Given the description of an element on the screen output the (x, y) to click on. 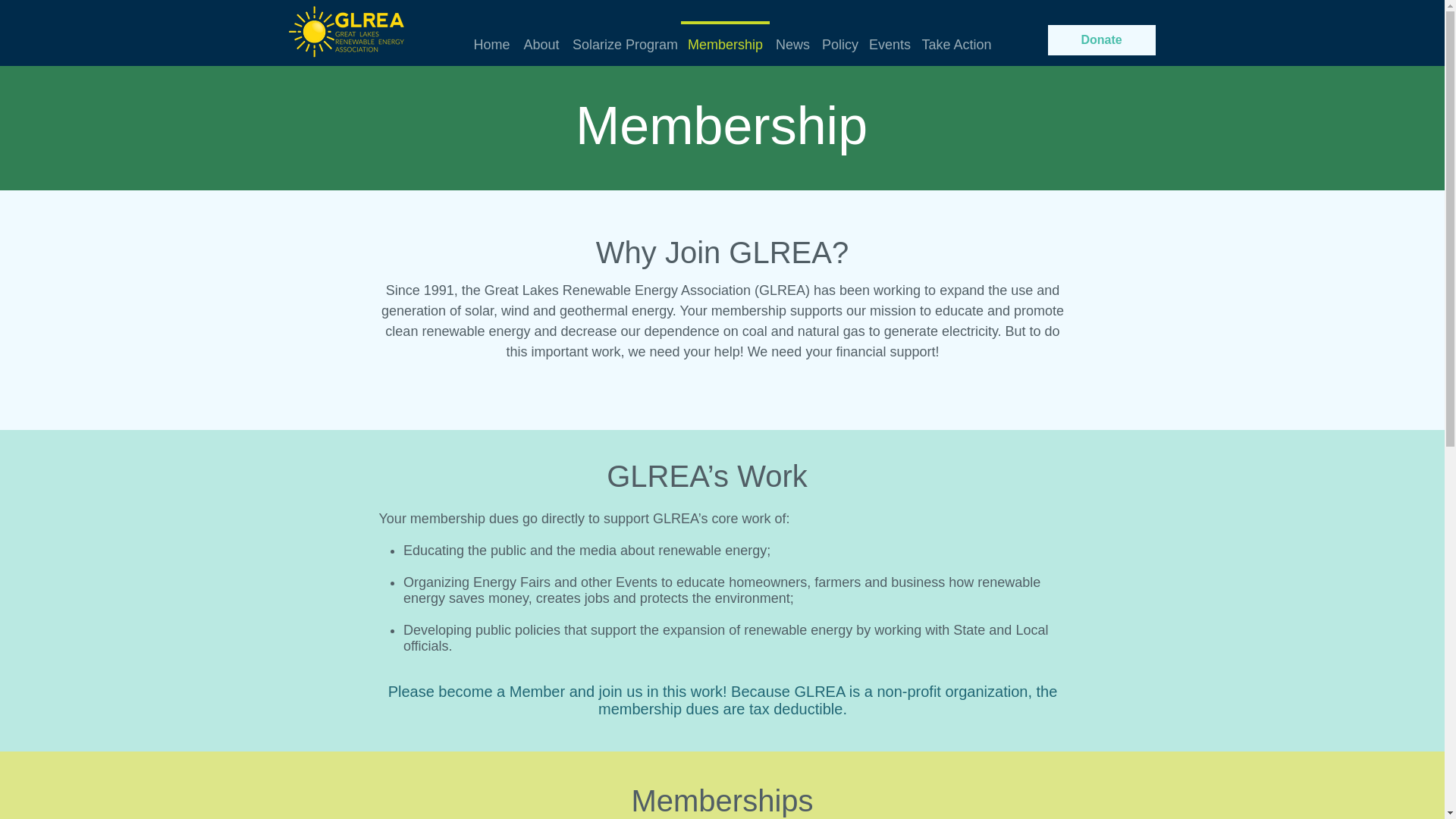
Take Action (956, 38)
Events (889, 38)
Home (491, 38)
News (792, 38)
About (541, 38)
Membership (725, 38)
Donate (1102, 40)
Policy (839, 38)
Solarize Program (623, 38)
